Given the description of an element on the screen output the (x, y) to click on. 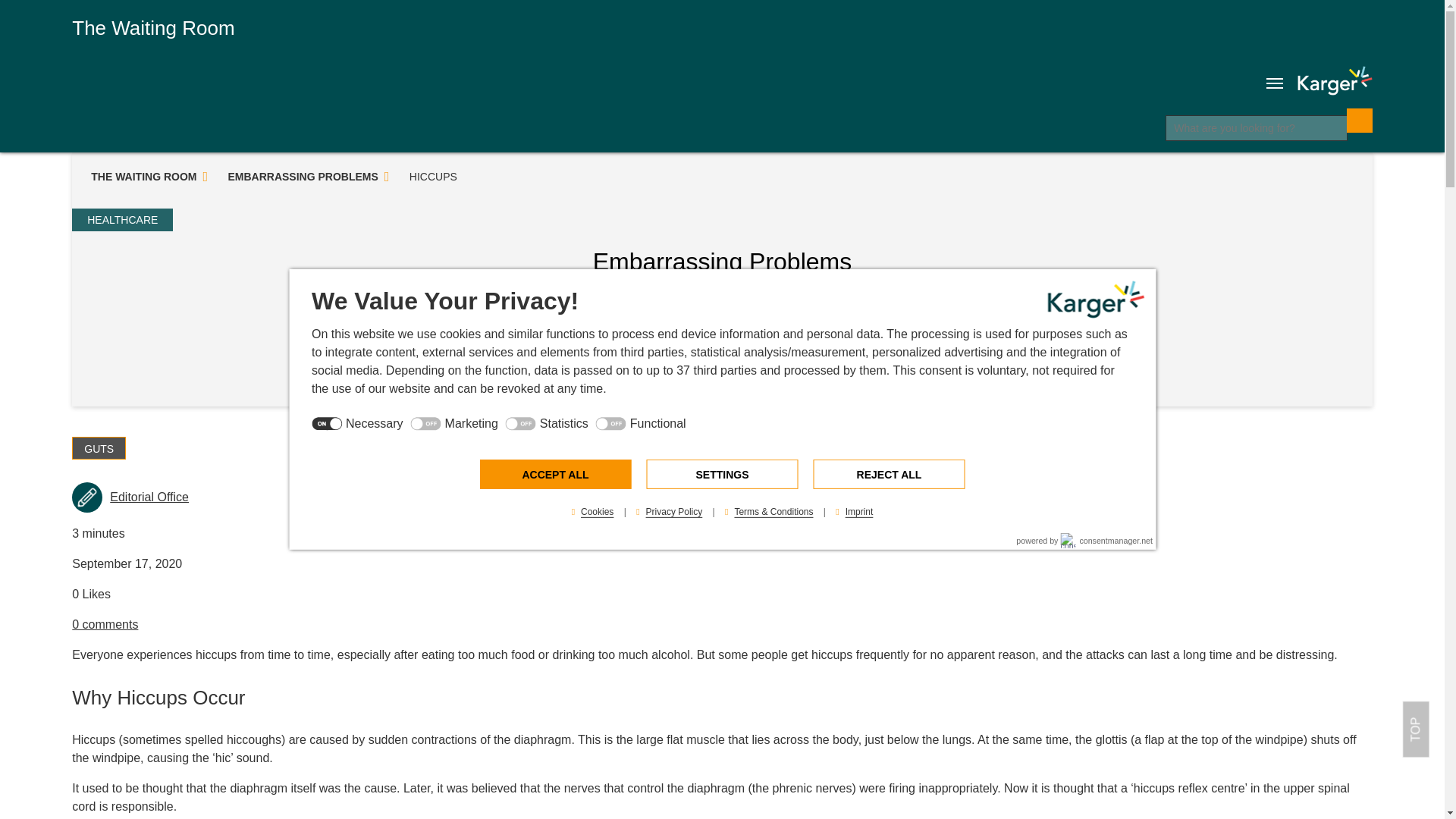
THE WAITING ROOM (141, 176)
view author's page (149, 496)
The Waiting Room (152, 27)
Privacy Policy (669, 511)
SETTINGS (721, 473)
Imprint (854, 511)
REJECT ALL (887, 473)
ACCEPT ALL (554, 473)
Cookies (592, 511)
Purpose (721, 424)
